Given the description of an element on the screen output the (x, y) to click on. 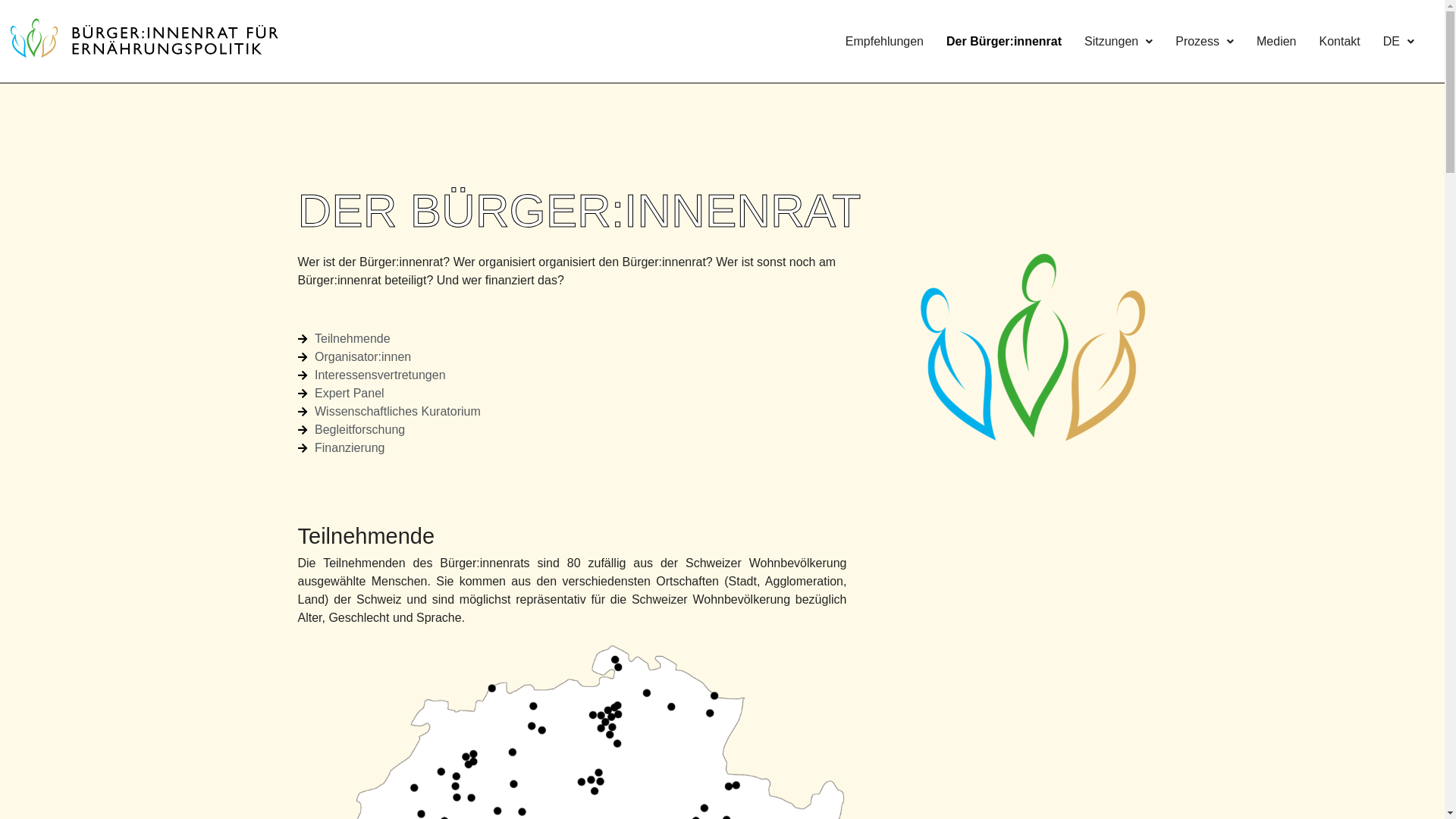
Sitzungen Element type: text (1118, 40)
DE Element type: text (1398, 40)
Interessensvertretungen Element type: text (572, 375)
Finanzierung Element type: text (572, 448)
Organisator:innen Element type: text (572, 357)
Teilnehmende Element type: text (572, 338)
Prozess Element type: text (1204, 40)
Wissenschaftliches Kuratorium Element type: text (572, 411)
Medien Element type: text (1276, 40)
Empfehlungen Element type: text (884, 40)
Begleitforschung Element type: text (572, 429)
Expert Panel Element type: text (572, 393)
Kontakt Element type: text (1339, 40)
